Given the description of an element on the screen output the (x, y) to click on. 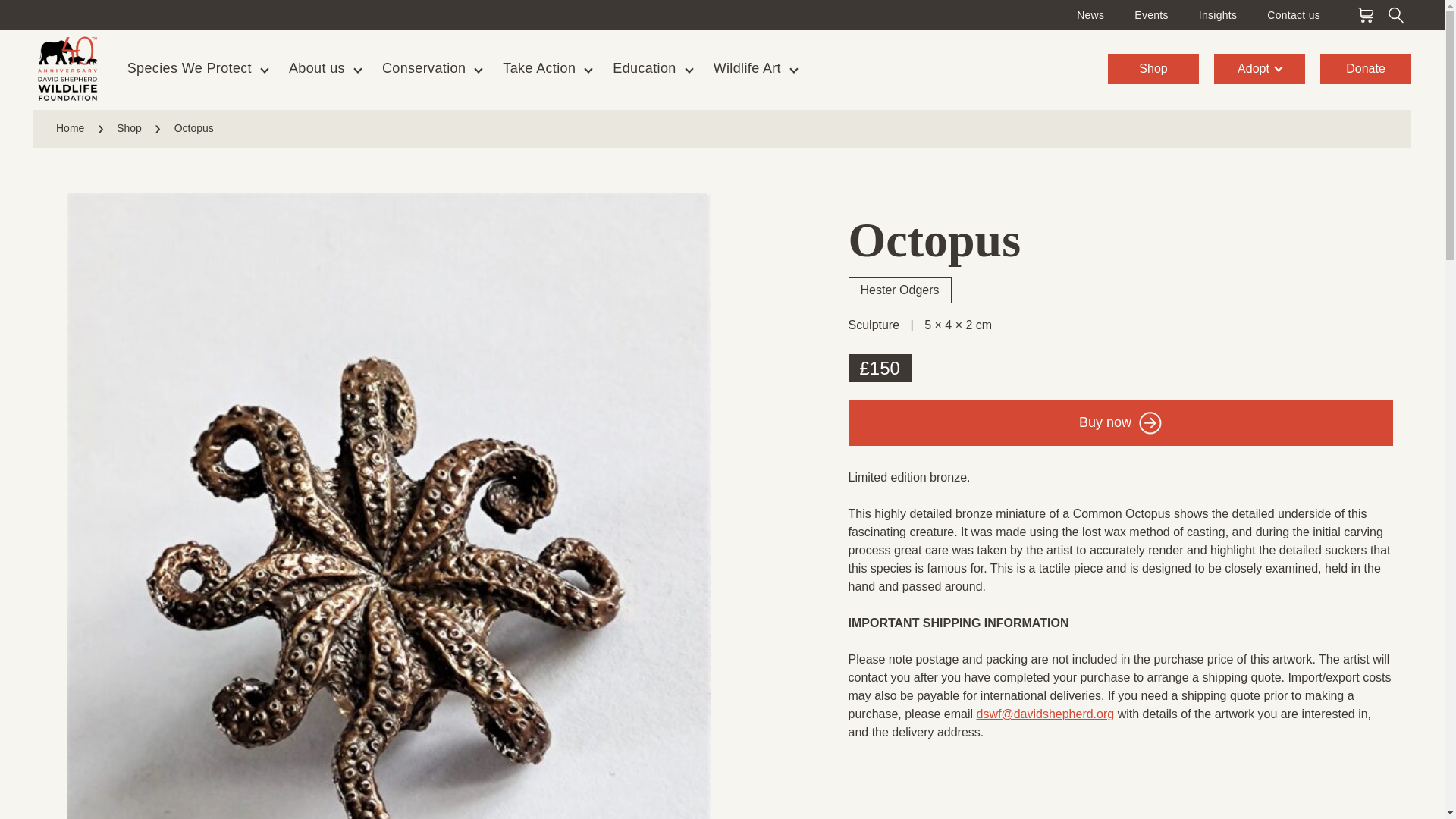
Events (1150, 15)
Contact us (1293, 15)
Conservation (423, 68)
News (1090, 15)
Insights (1217, 15)
About us (316, 68)
Species We Protect (188, 68)
